Given the description of an element on the screen output the (x, y) to click on. 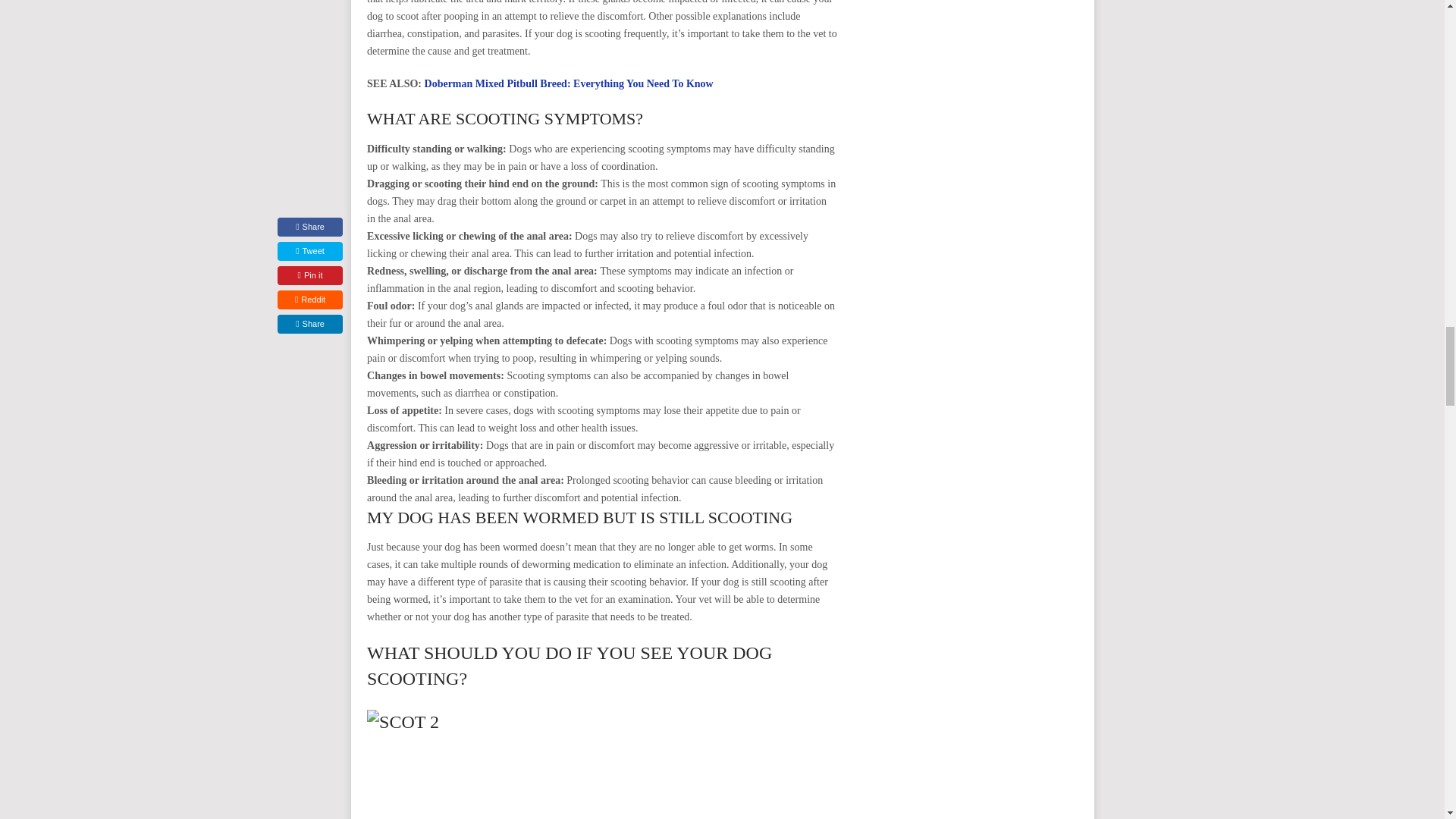
Doberman Mixed Pitbull Breed: Everything You Need To Know (569, 83)
12 Effective Home Remedies For Dogs Scooting 3 (601, 764)
